Given the description of an element on the screen output the (x, y) to click on. 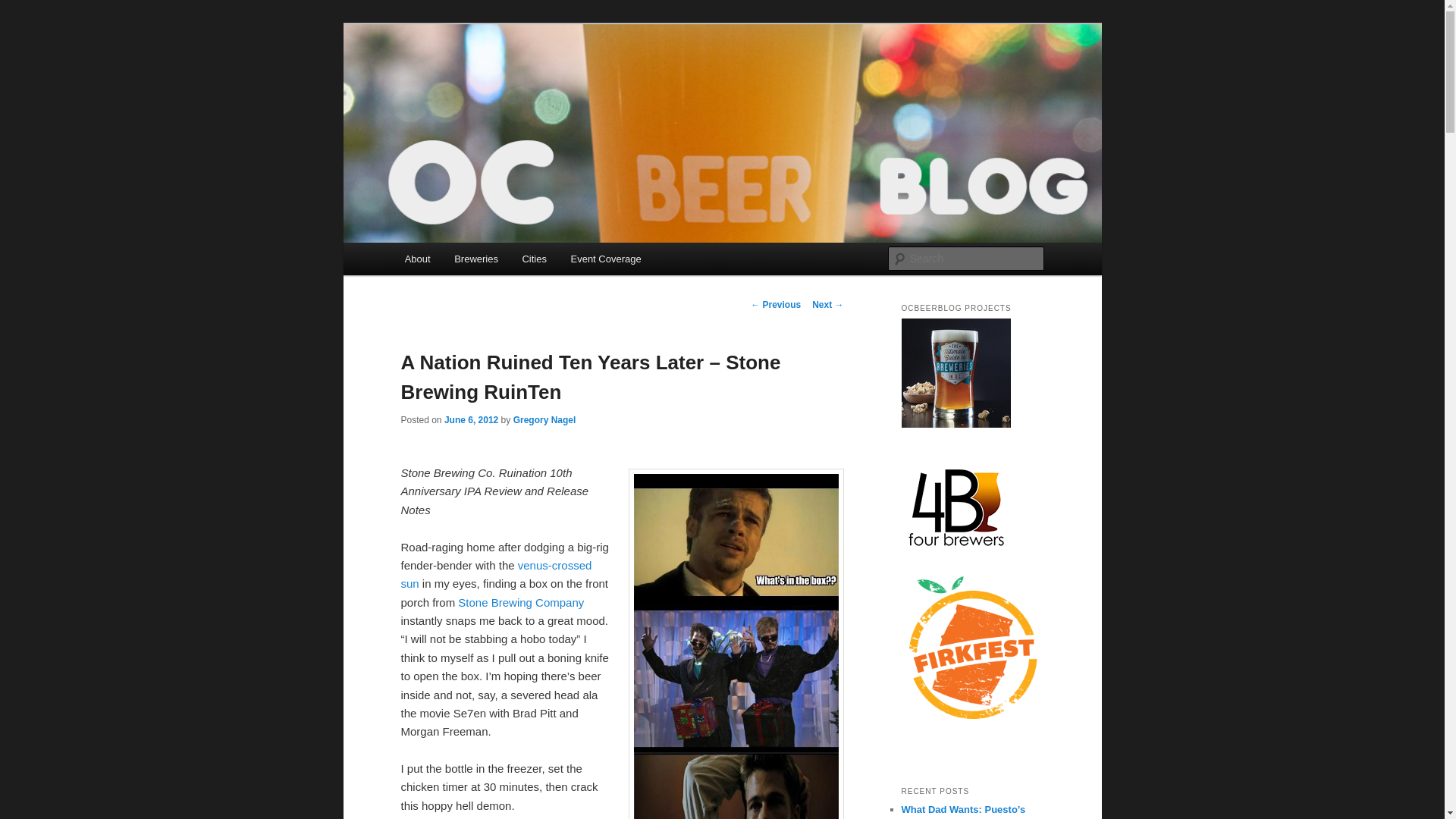
Cities (535, 258)
Search (24, 8)
7:48 pm (470, 419)
View all posts by Gregory Nagel (544, 419)
OCBeerBlog (467, 78)
Event Coverage (606, 258)
About (417, 258)
Breweries (475, 258)
